Given the description of an element on the screen output the (x, y) to click on. 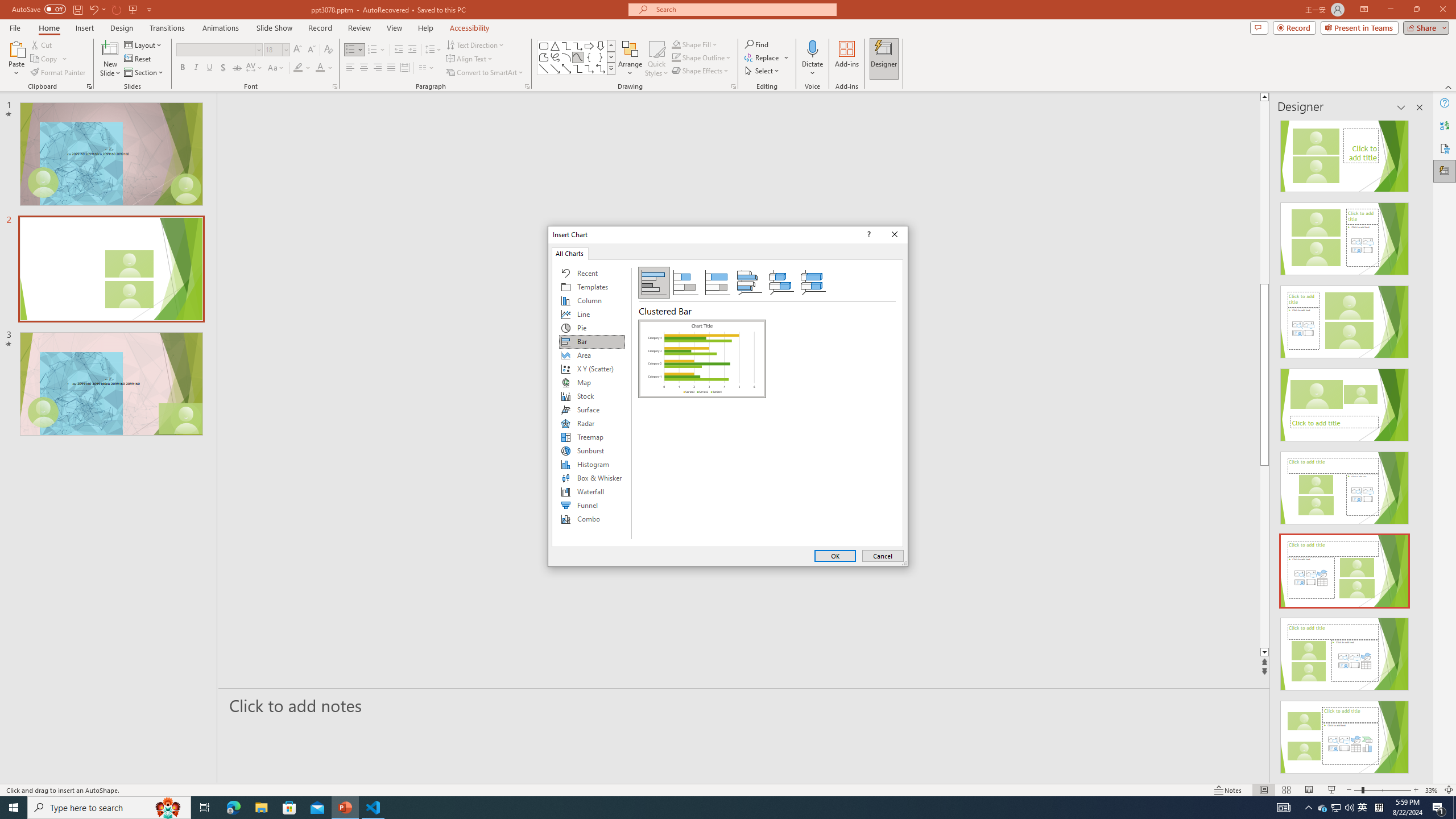
Line Arrow: Double (566, 68)
Clear Formatting (327, 49)
